Given the description of an element on the screen output the (x, y) to click on. 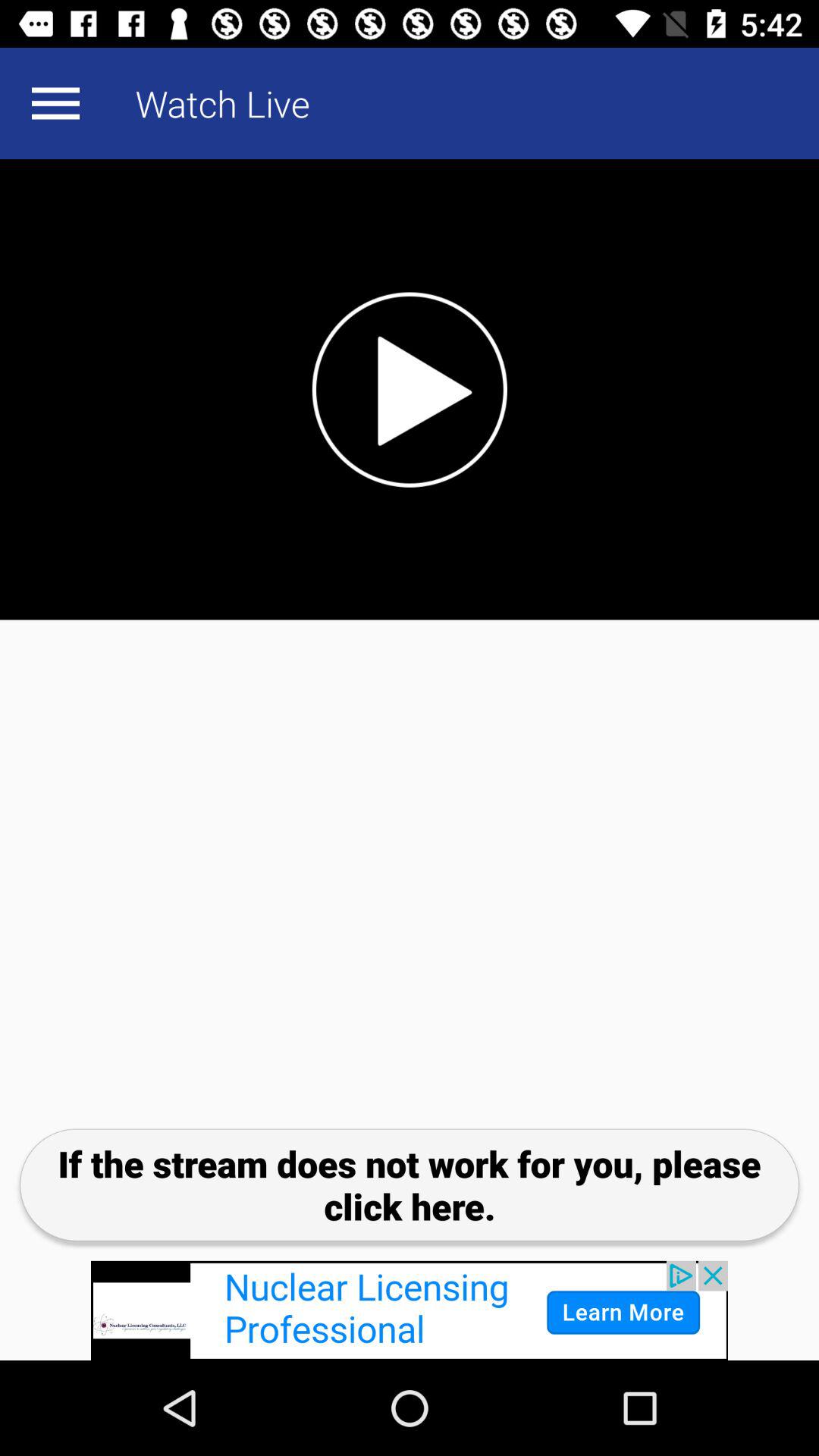
open advertisement (409, 1310)
